Given the description of an element on the screen output the (x, y) to click on. 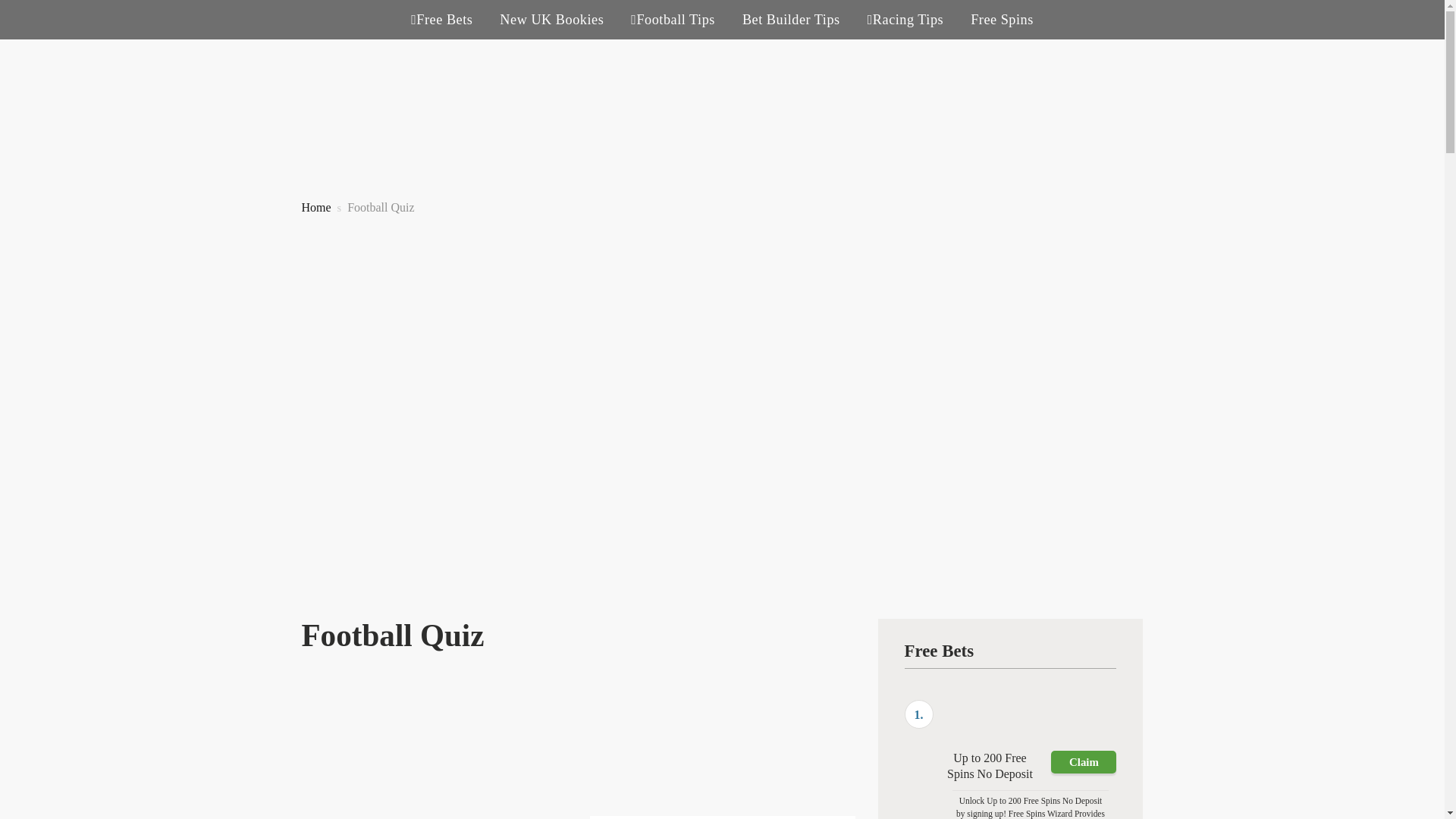
Home (316, 206)
Free Spins (1002, 19)
New UK Bookies (551, 19)
Bet Builder Tips (791, 19)
Football Quiz (380, 206)
